Given the description of an element on the screen output the (x, y) to click on. 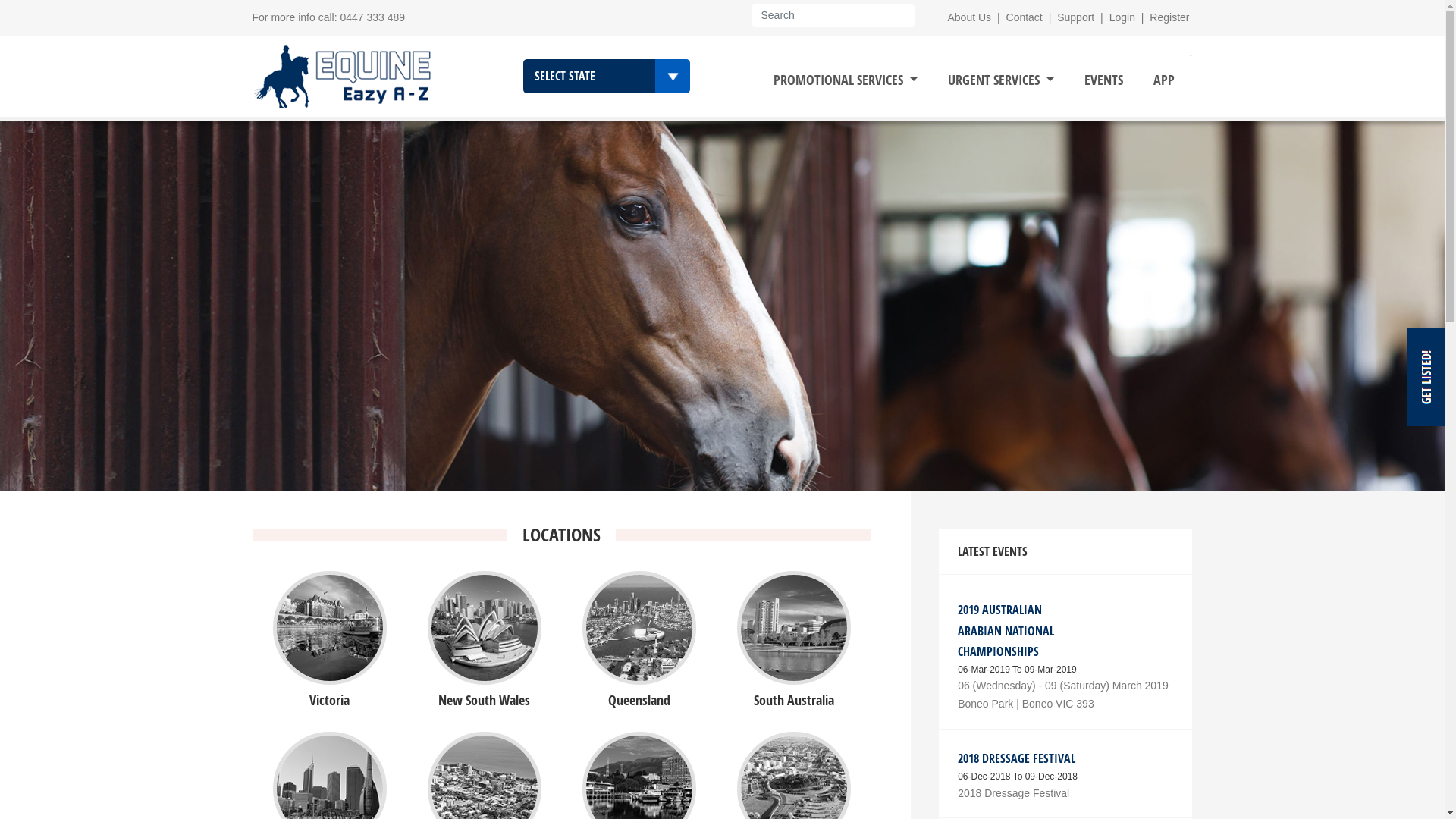
PROMOTIONAL SERVICES Element type: text (845, 79)
EVENTS Element type: text (1103, 79)
URGENT SERVICES Element type: text (1000, 79)
2019 AUSTRALIAN ARABIAN NATIONAL CHAMPIONSHIPS Element type: text (1005, 629)
New South Wales Element type: text (484, 667)
2018 DRESSAGE FESTIVAL Element type: text (1016, 757)
Contact Element type: text (1024, 17)
APP Element type: text (1163, 79)
Victoria Element type: text (328, 667)
Queensland Element type: text (638, 667)
0447 333 489 Element type: text (371, 17)
About Us Element type: text (969, 17)
Login Element type: text (1122, 17)
South Australia Element type: text (793, 667)
Support Element type: text (1075, 17)
Register Element type: text (1169, 17)
